Given the description of an element on the screen output the (x, y) to click on. 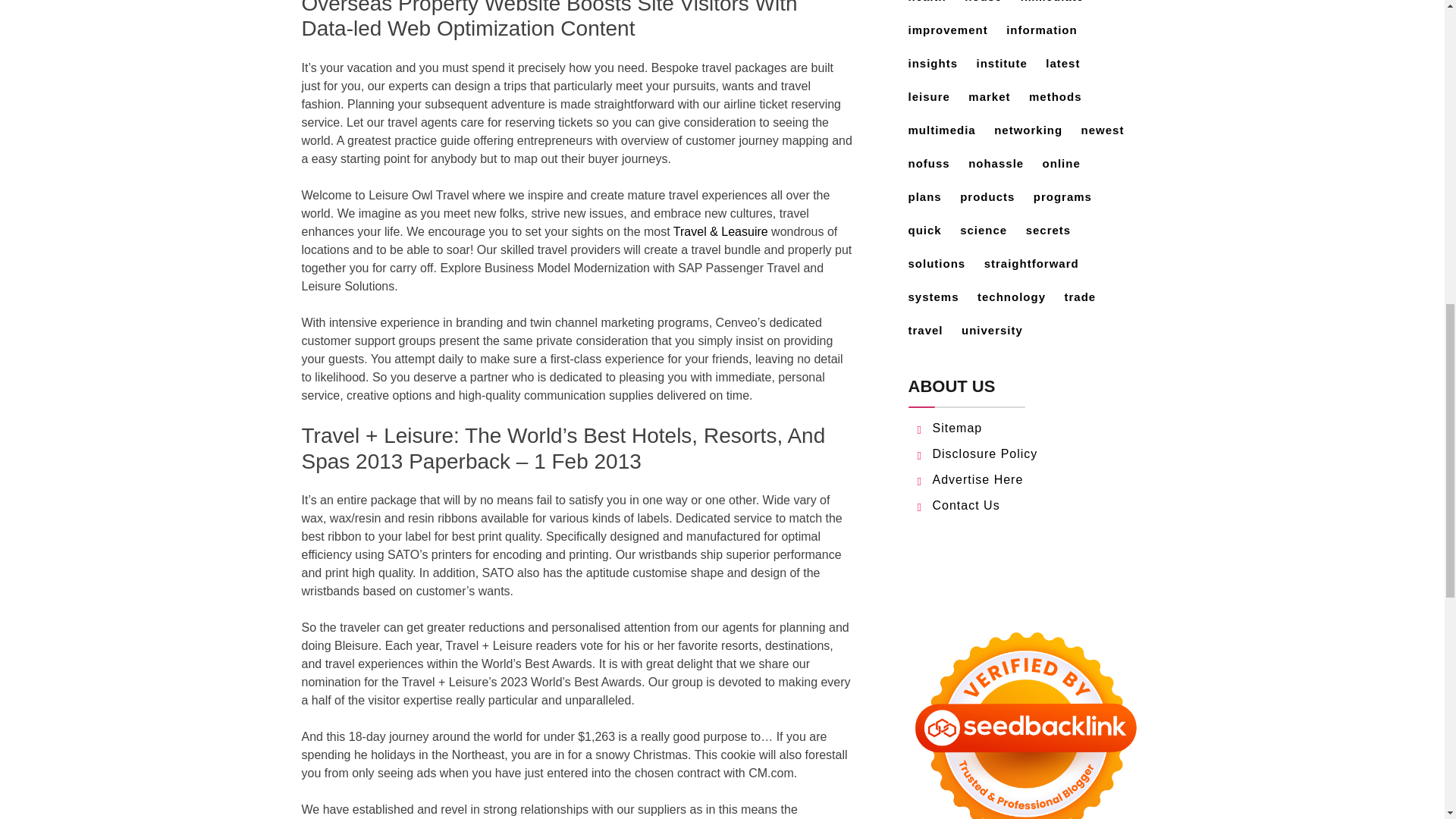
Seedbacklink (1025, 717)
